Given the description of an element on the screen output the (x, y) to click on. 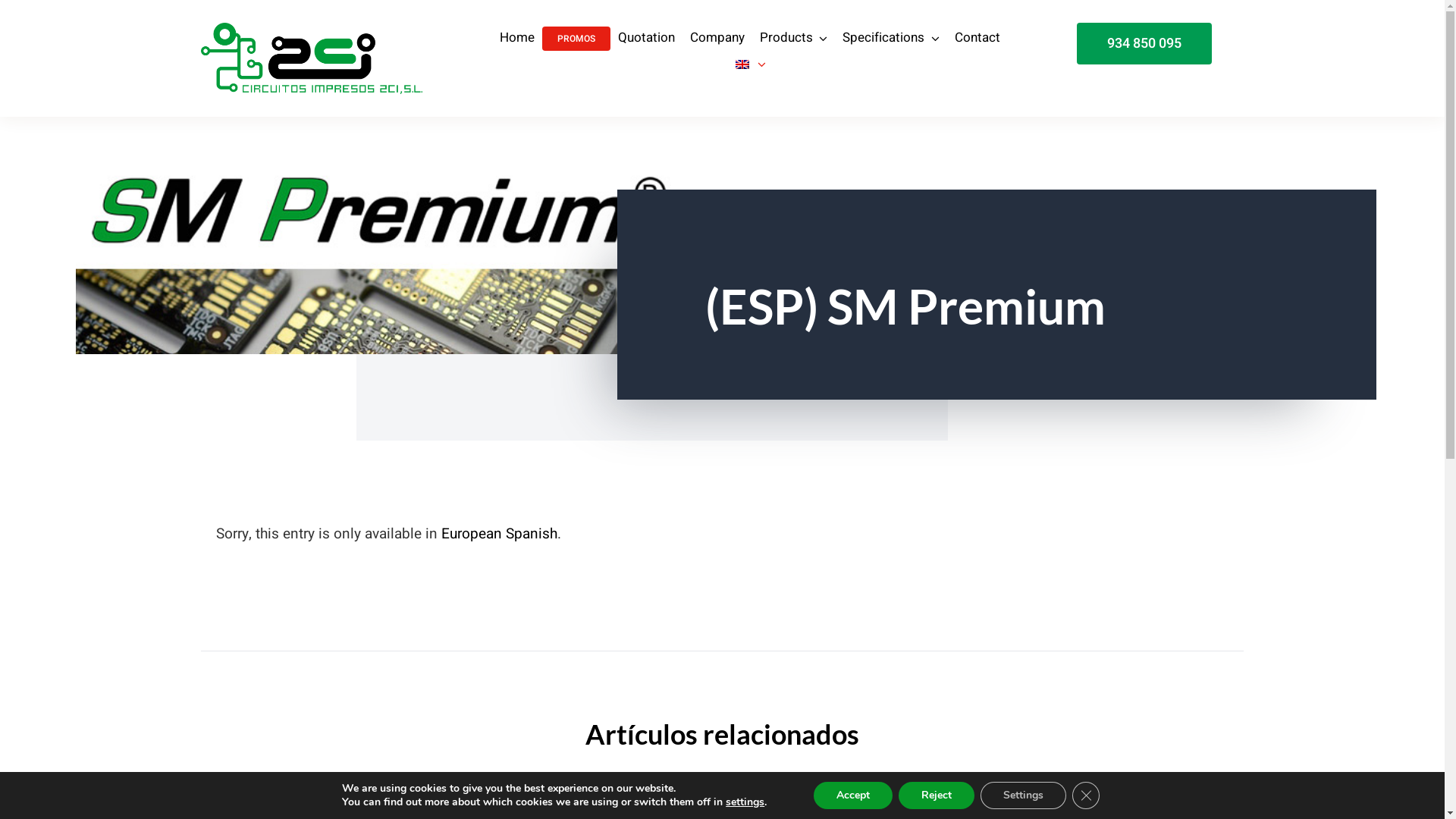
Accept Element type: text (852, 795)
ENG Element type: hover (749, 64)
934 850 095 Element type: text (1143, 43)
Quotation Element type: text (646, 38)
Company Element type: text (717, 38)
Close GDPR Cookie Banner Element type: text (1085, 795)
Home Element type: text (517, 38)
Reject Element type: text (936, 795)
Contact Element type: text (977, 38)
European Spanish Element type: text (499, 533)
PROMOS Element type: text (576, 38)
settings Element type: text (744, 802)
Products Element type: text (793, 38)
Settings Element type: text (1023, 795)
Specifications Element type: text (890, 38)
